Given the description of an element on the screen output the (x, y) to click on. 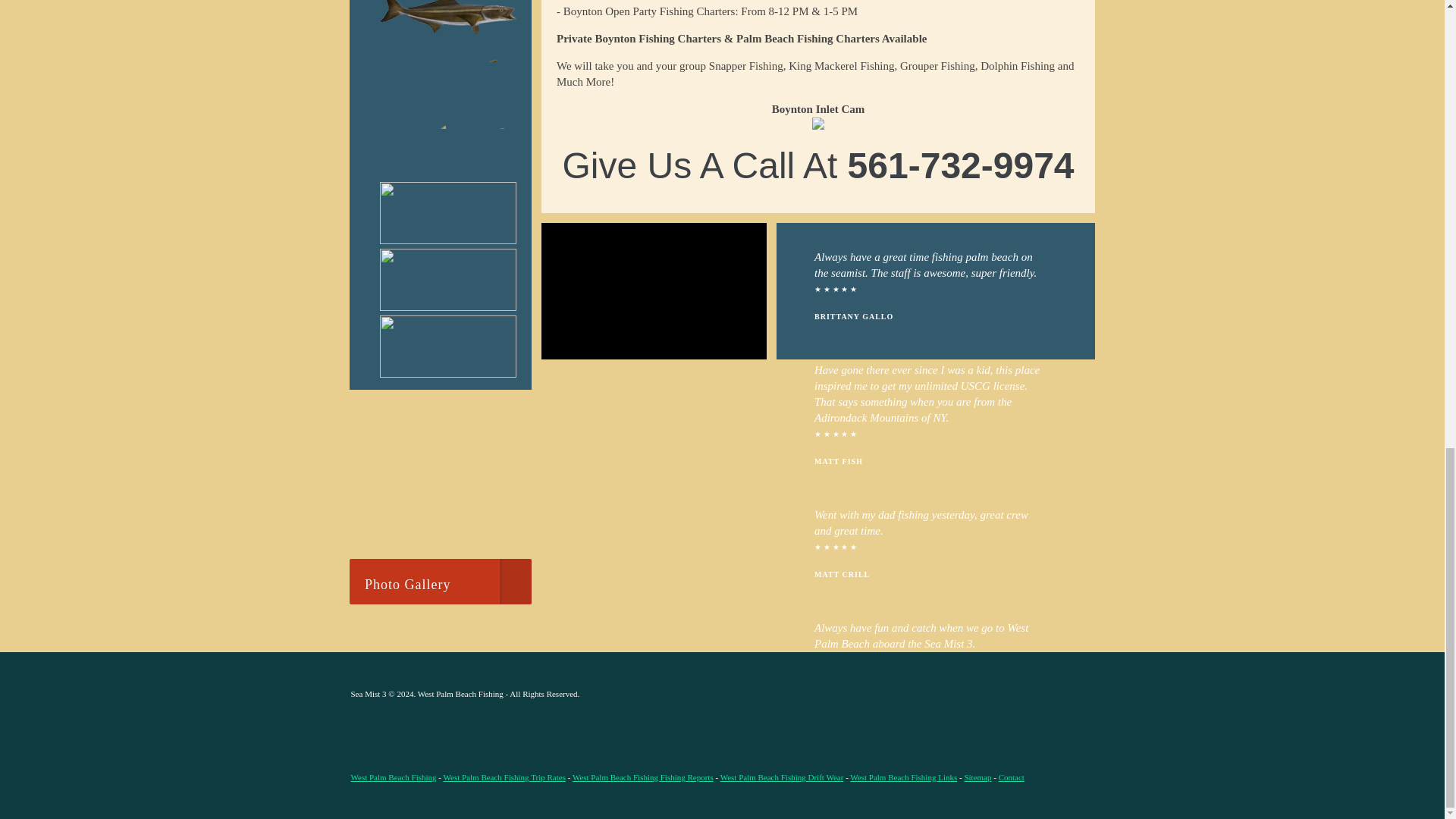
Contact (1011, 777)
West Palm Beach Fishing Links (903, 777)
West Palm Beach Fishing Drift Wear (782, 777)
Photo Gallery (440, 581)
Angler Fish Marketing, Inc (946, 693)
West Palm Beach Fishing Fishing Reports (642, 777)
West Palm Beach Fishing (392, 777)
West Palm Beach Fishing Trip Rates (505, 777)
Sitemap (977, 777)
